Given the description of an element on the screen output the (x, y) to click on. 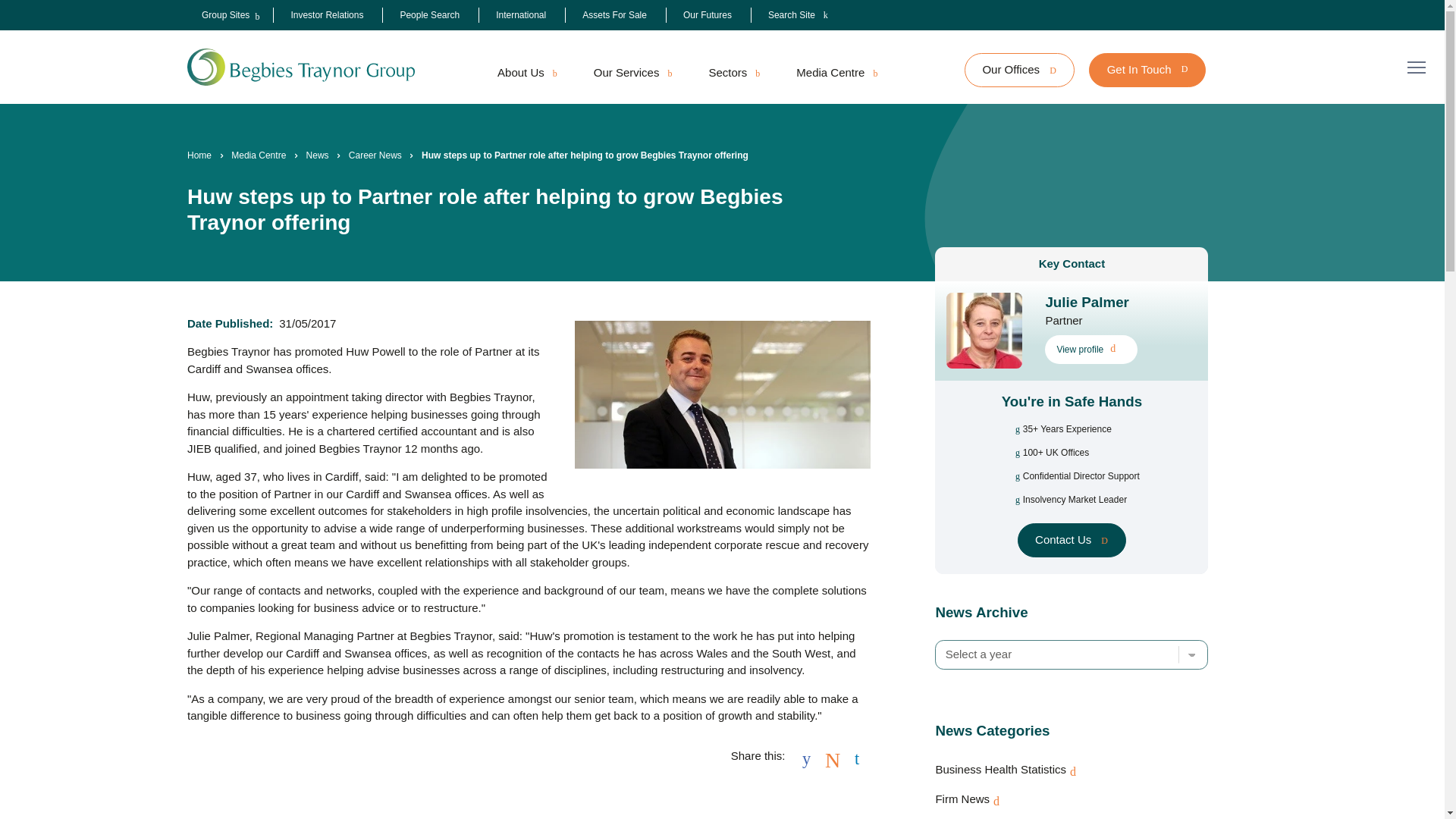
About Us (527, 73)
Go to Home (199, 155)
Our Futures (707, 15)
Search Site (798, 15)
Group Sites (225, 15)
Go to Career News (375, 155)
Assets For Sale (614, 15)
Investor Relations (325, 15)
Go to News (317, 155)
Go to Media Centre (258, 155)
Our Services (632, 73)
International (521, 15)
People Search (429, 15)
